Given the description of an element on the screen output the (x, y) to click on. 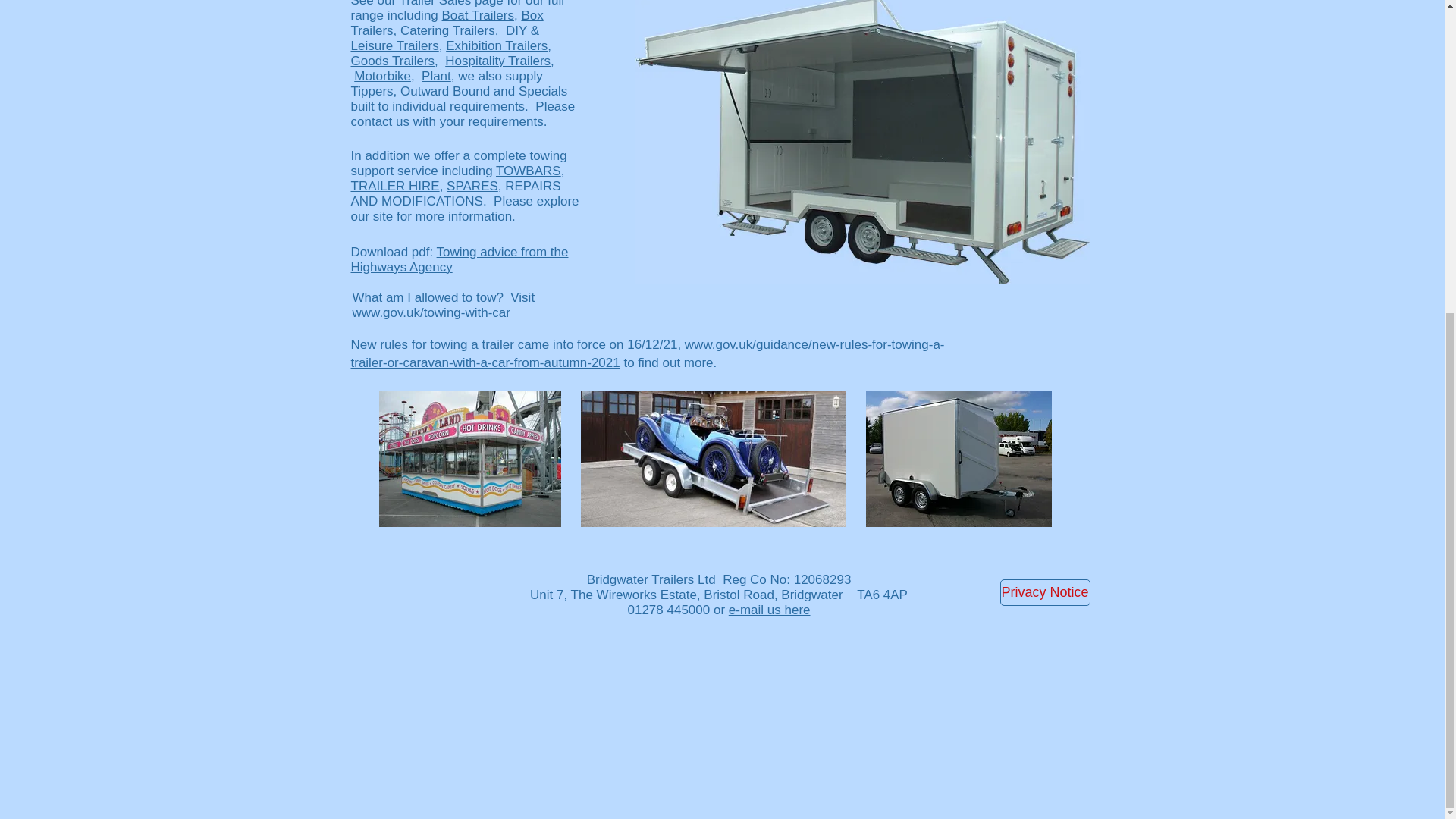
Goods Trailers (391, 60)
TOWBARS (528, 170)
Exhibition Trailers (496, 45)
01278 445000 (668, 609)
TRAILER HIRE (394, 186)
SPARES (471, 186)
e-mail us here (769, 609)
Privacy Notice (1043, 592)
Motorbike (381, 75)
Box Trailers (446, 22)
